Given the description of an element on the screen output the (x, y) to click on. 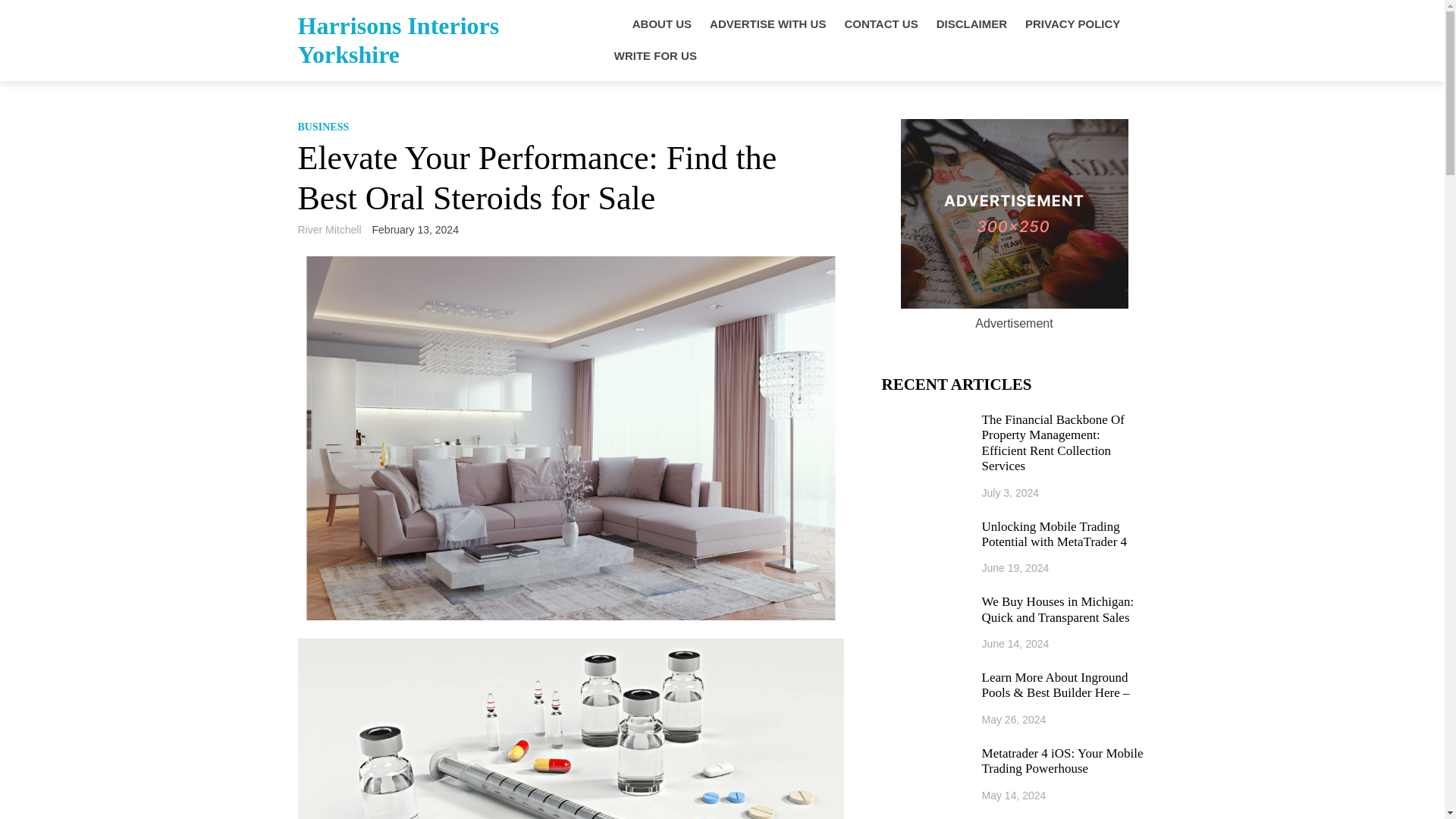
July 3, 2024 (1010, 492)
May 14, 2024 (1013, 795)
Harrisons Interiors Yorkshire (398, 39)
Metatrader 4 iOS: Your Mobile Trading Powerhouse (1064, 761)
BUSINESS (323, 126)
Unlocking Mobile Trading Potential with MetaTrader 4 (1064, 534)
June 19, 2024 (1015, 567)
ADVERTISE WITH US (767, 24)
We Buy Houses in Michigan: Quick and Transparent Sales (1064, 609)
WRITE FOR US (655, 56)
PRIVACY POLICY (1072, 24)
CONTACT US (880, 24)
May 26, 2024 (1013, 719)
DISCLAIMER (971, 24)
